Given the description of an element on the screen output the (x, y) to click on. 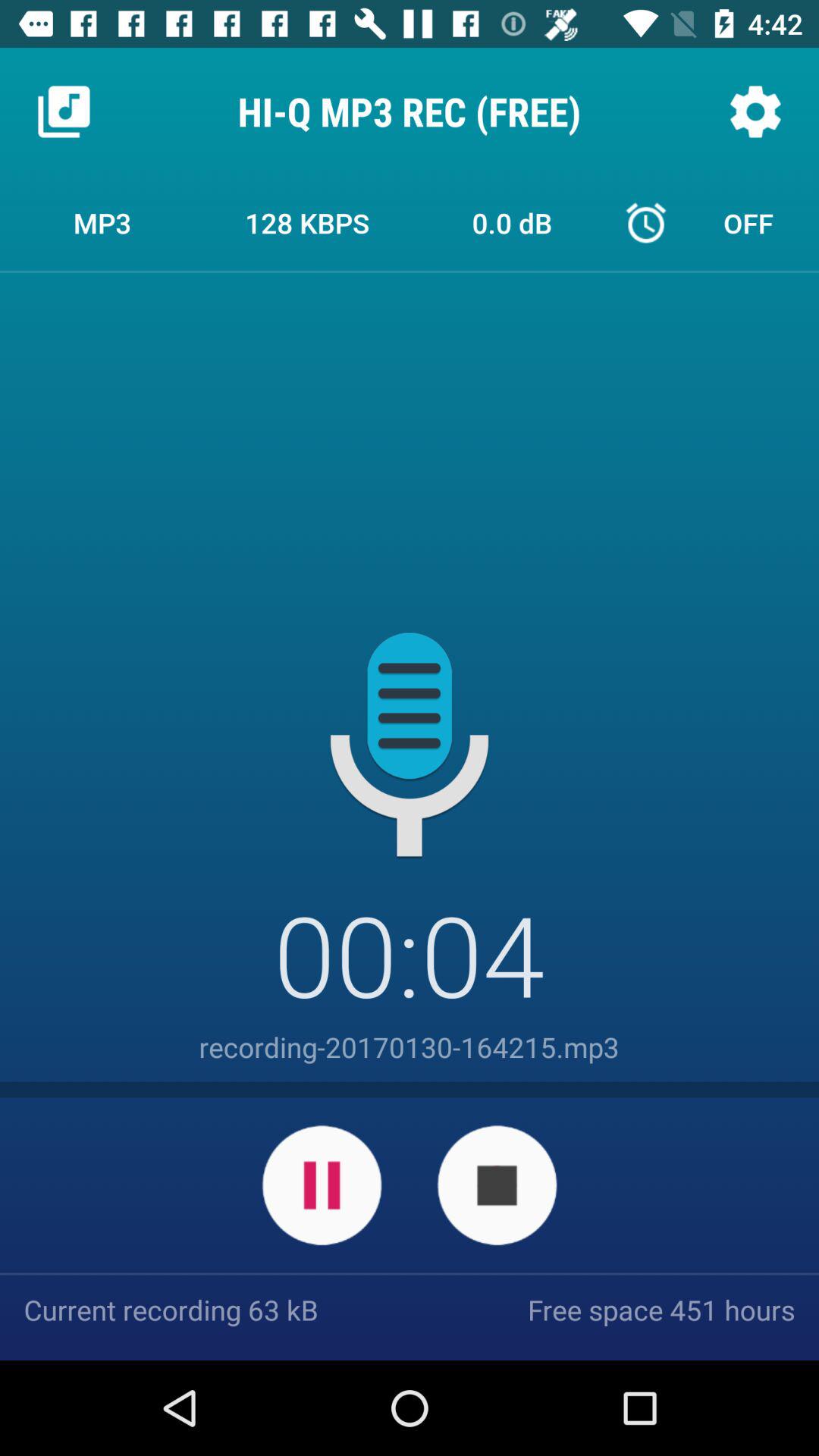
turn off item below the hi q mp3 (306, 222)
